Given the description of an element on the screen output the (x, y) to click on. 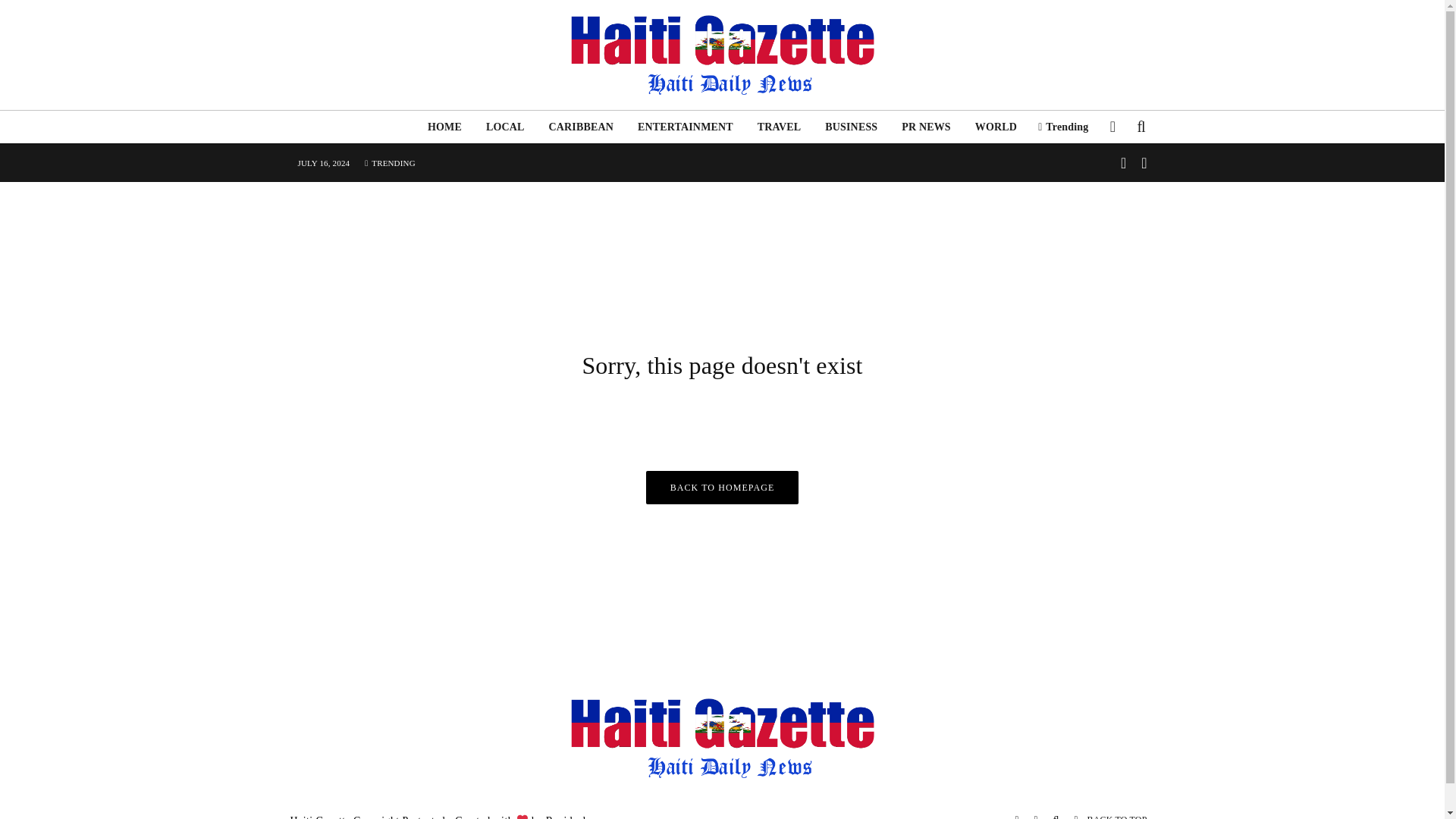
ENTERTAINMENT (685, 126)
LOCAL (505, 126)
TRAVEL (779, 126)
CARIBBEAN (581, 126)
HOME (444, 126)
